Given the description of an element on the screen output the (x, y) to click on. 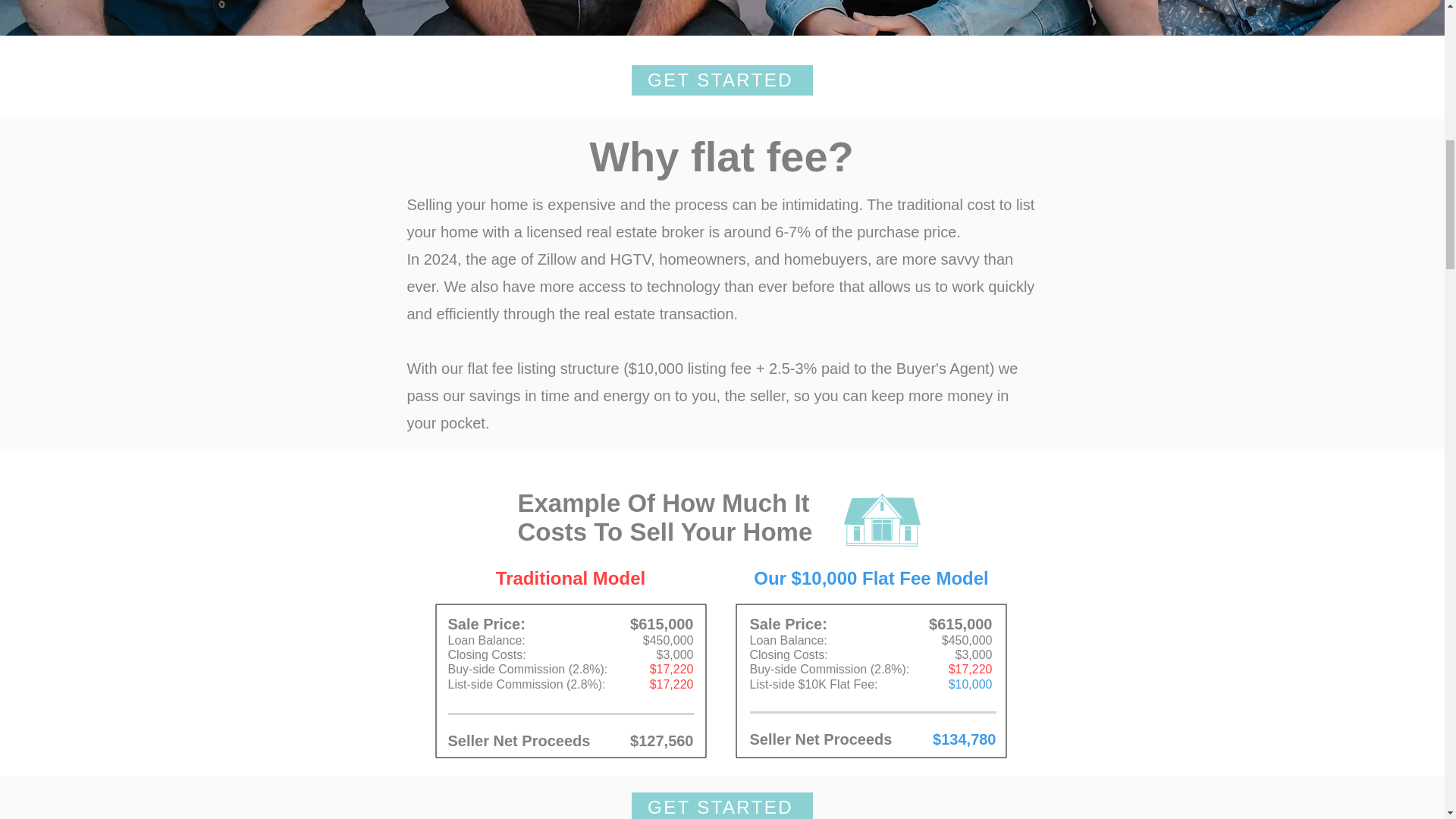
GET STARTED (721, 80)
GET STARTED (721, 805)
